Given the description of an element on the screen output the (x, y) to click on. 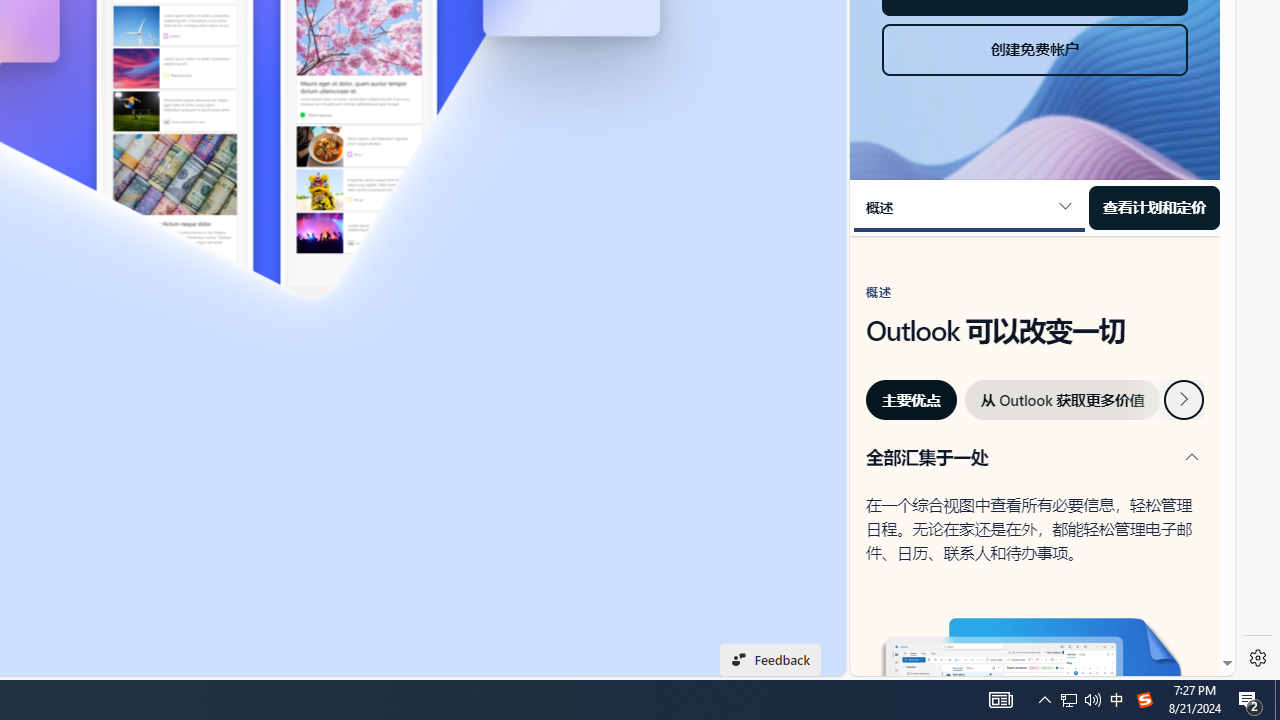
Settings (1258, 658)
Feedback (769, 659)
